Given the description of an element on the screen output the (x, y) to click on. 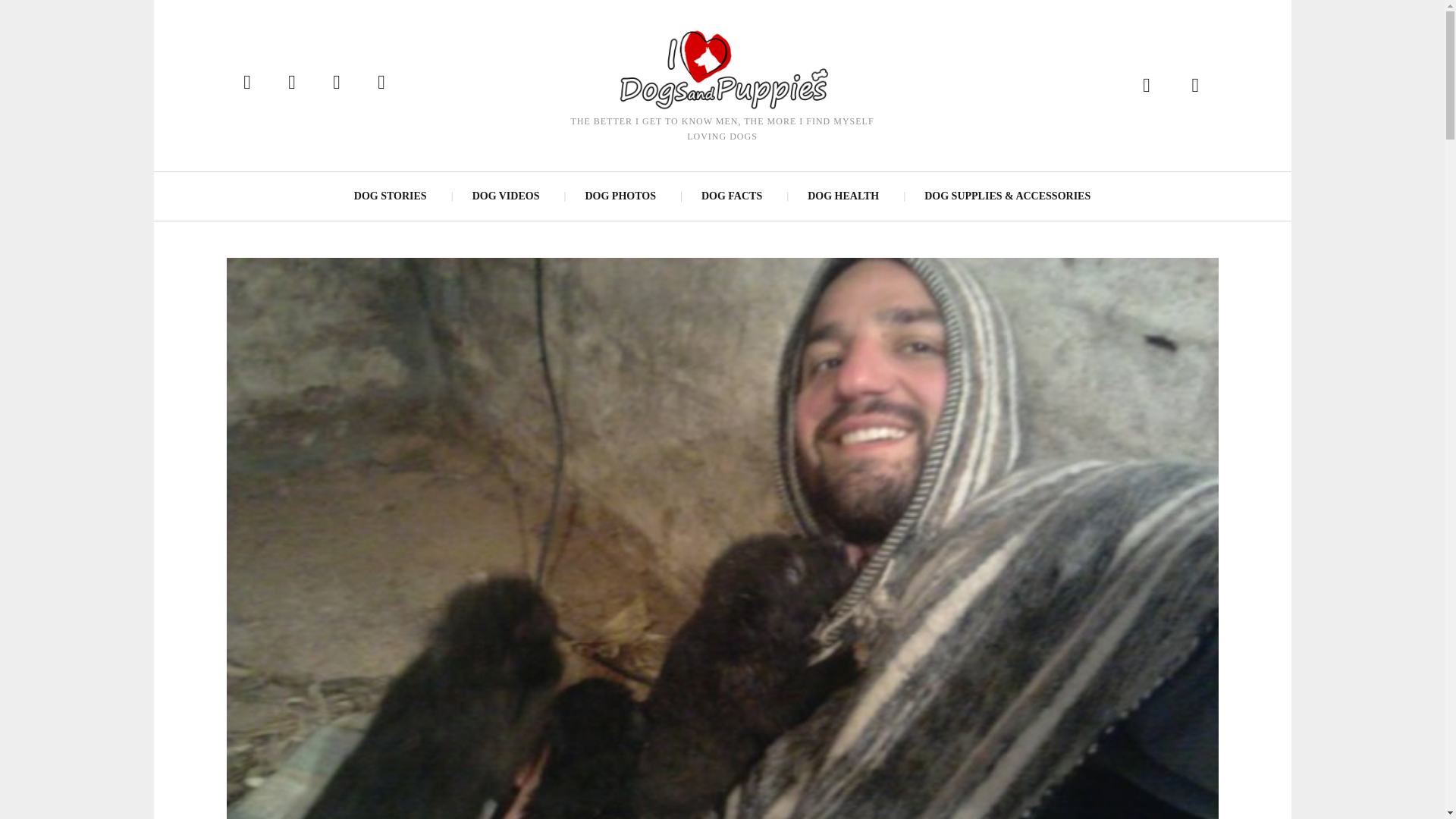
DOG HEALTH (842, 195)
DOG STORIES (390, 195)
ILoveDogsAndPuppies (721, 68)
DOG VIDEOS (505, 195)
DOG FACTS (731, 195)
DOG PHOTOS (619, 195)
